Given the description of an element on the screen output the (x, y) to click on. 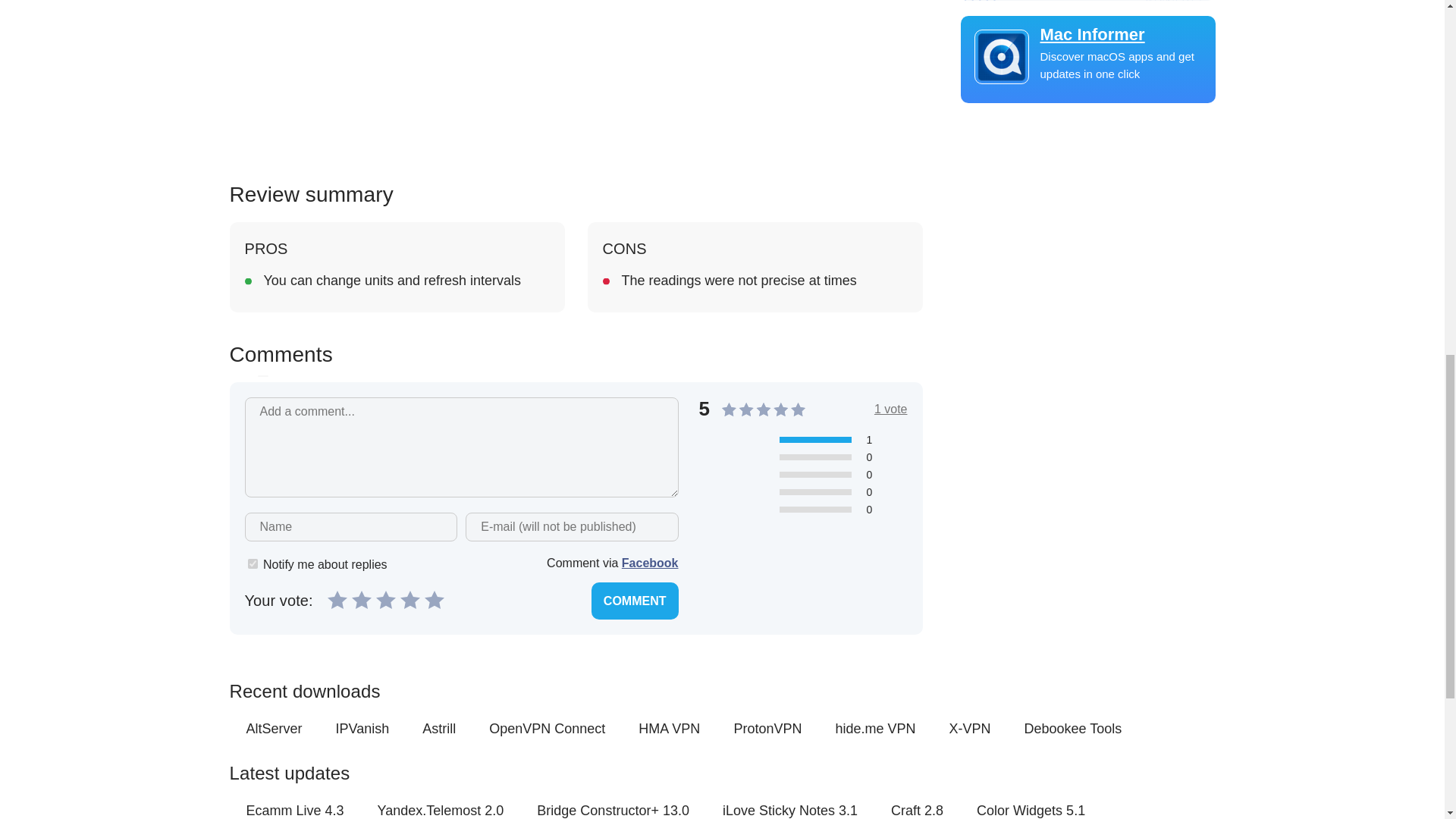
1 (252, 563)
Mac Informer (1087, 35)
2 (361, 598)
Comment (634, 600)
1 (336, 598)
4 (409, 598)
3 (385, 598)
5 (434, 598)
